Given the description of an element on the screen output the (x, y) to click on. 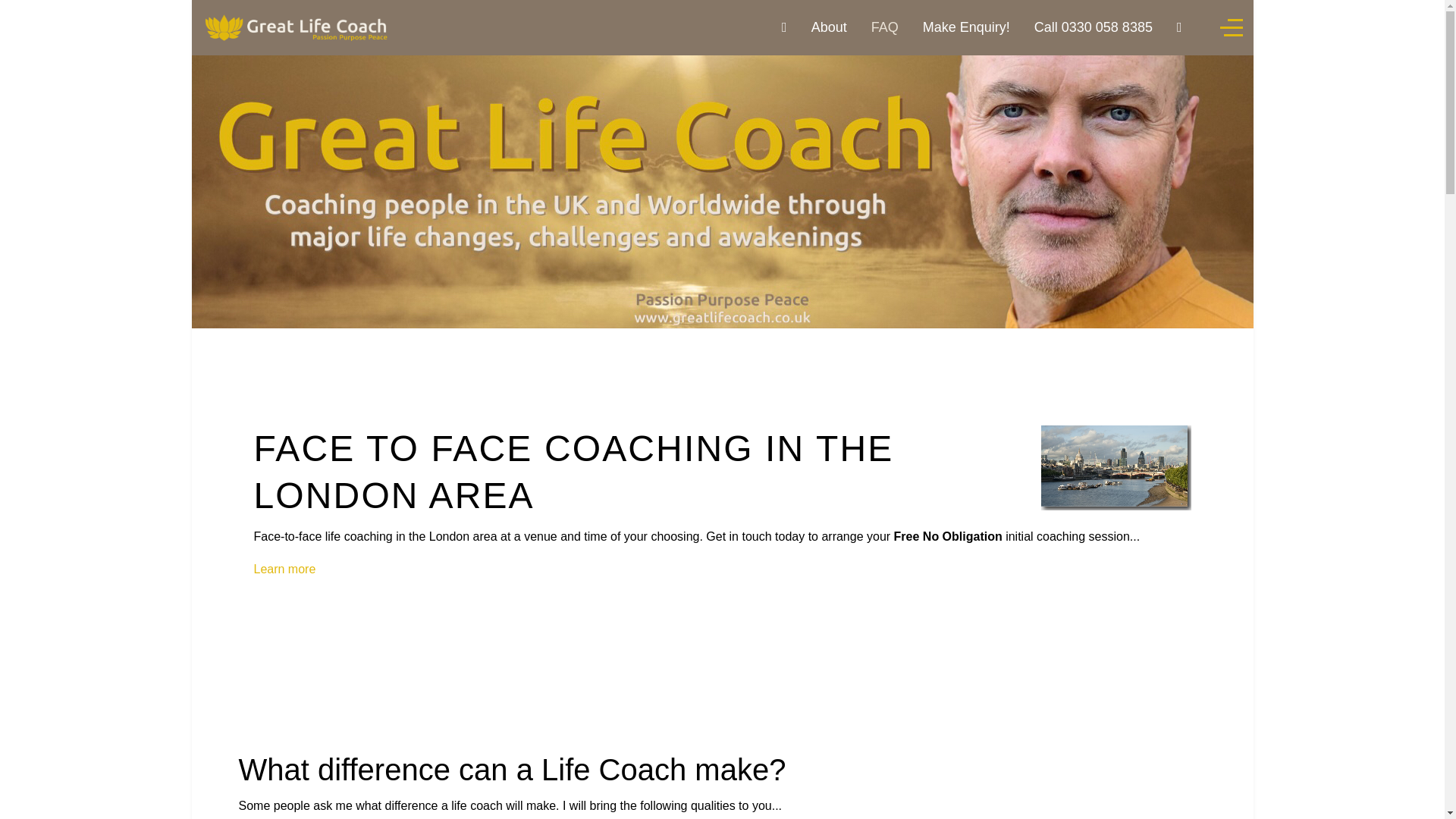
About (829, 27)
About (829, 27)
Make Enquiry! (966, 27)
Off-Canvas Toggle (1230, 26)
FAQ (885, 27)
Call 0330 058 8385 (1093, 27)
FAQ (885, 27)
Call 0330 058 8385 (1093, 27)
Make Enquiry! (966, 27)
Learn more (284, 568)
